Given the description of an element on the screen output the (x, y) to click on. 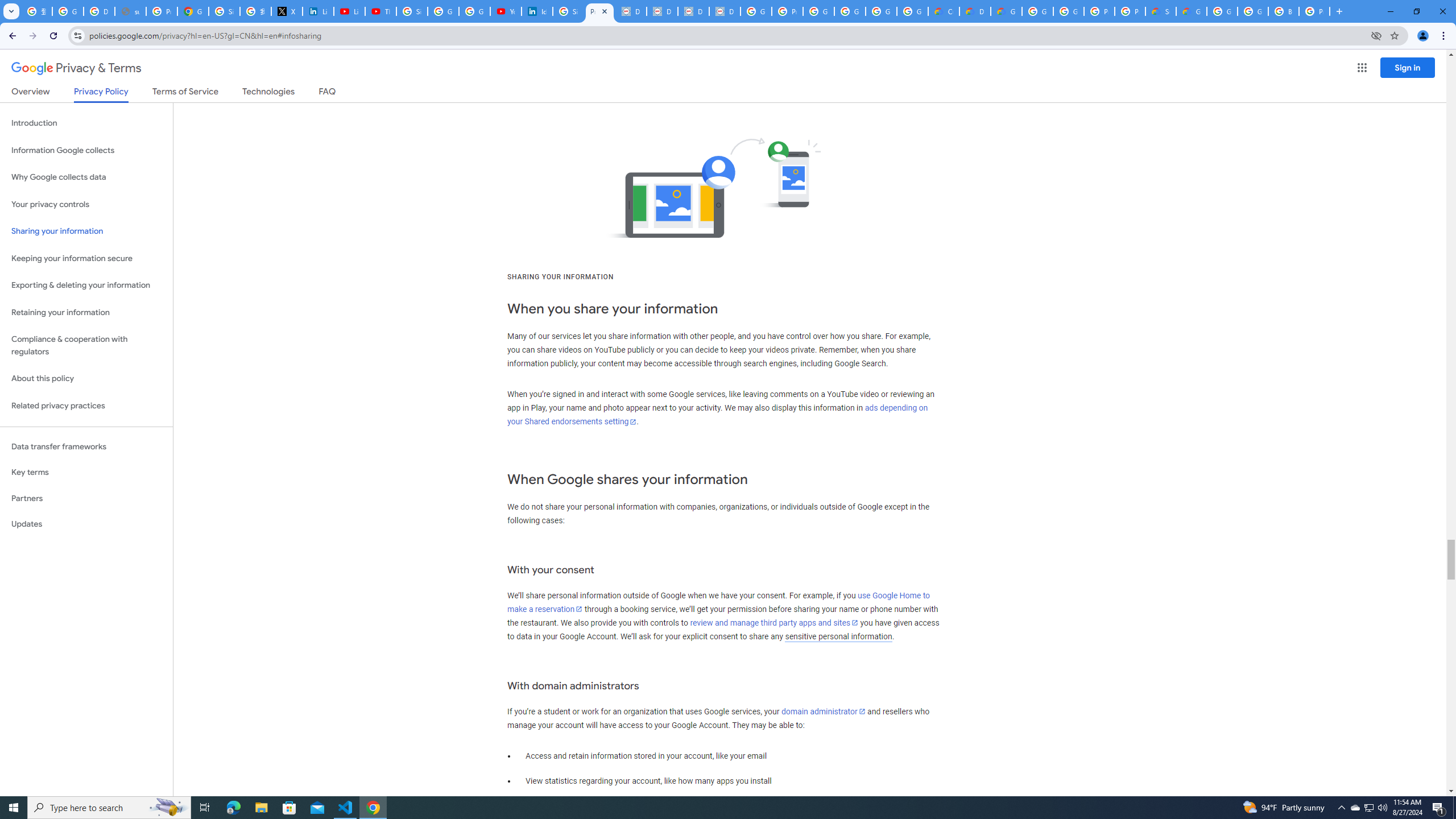
Related privacy practices (86, 405)
X (286, 11)
Customer Care | Google Cloud (943, 11)
Google Cloud Platform (1252, 11)
